Given the description of an element on the screen output the (x, y) to click on. 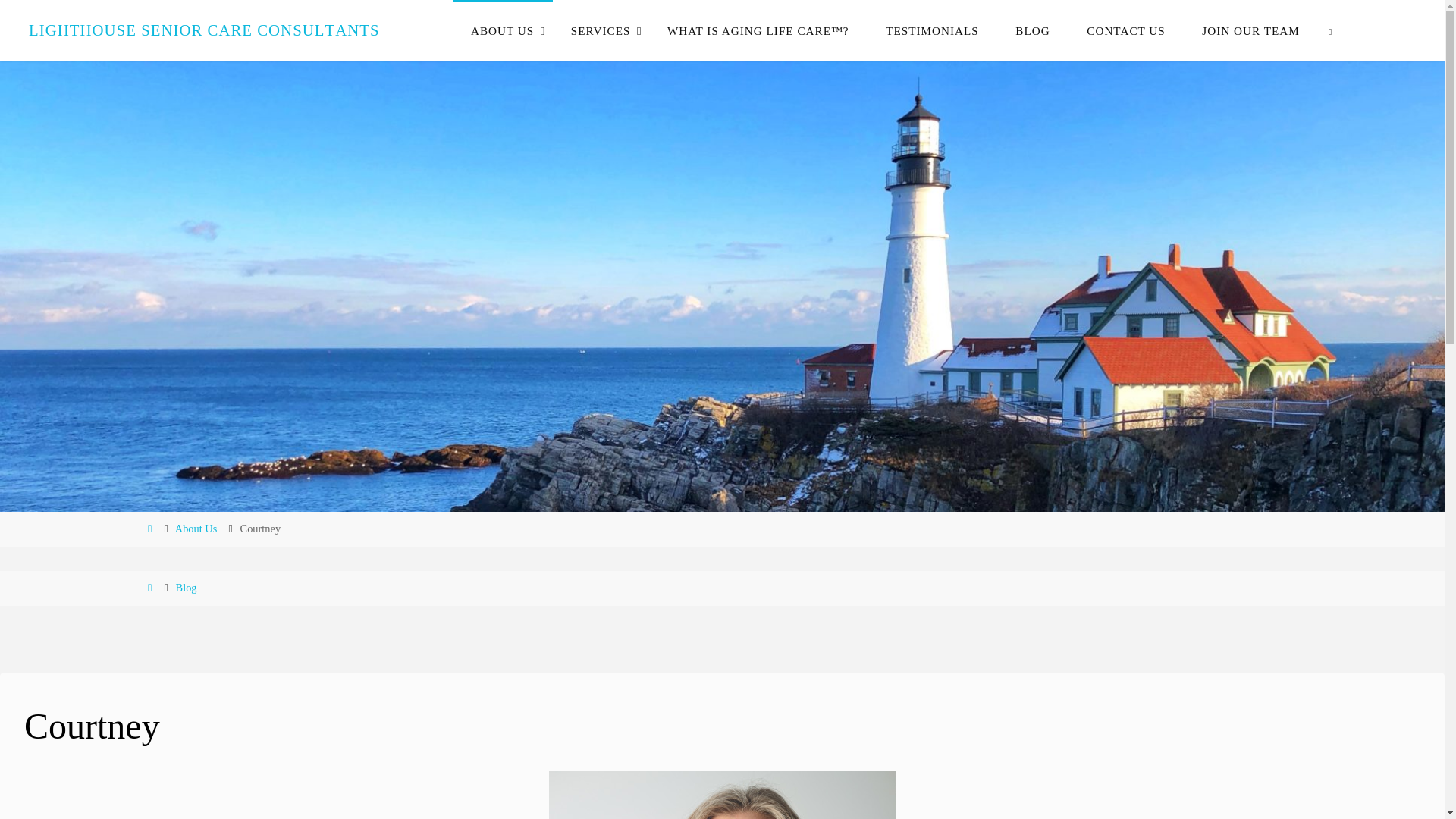
LIGHTHOUSE SENIOR CARE CONSULTANTS (203, 29)
Aging Life Care Professional (203, 29)
ABOUT US (502, 30)
SERVICES (601, 30)
